Given the description of an element on the screen output the (x, y) to click on. 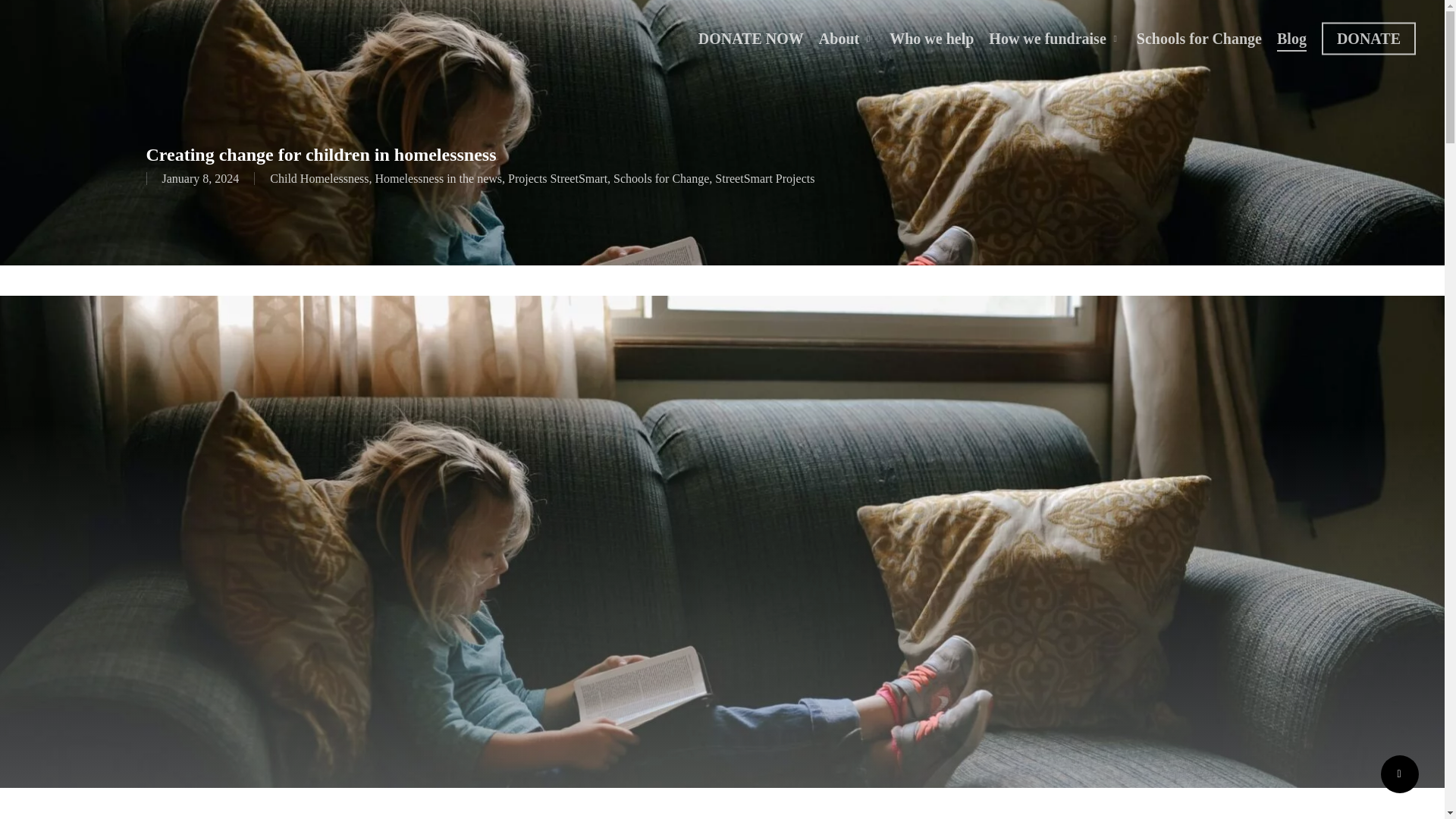
StreetSmart Projects (763, 178)
DONATE NOW (750, 37)
Blog (1291, 37)
Child Homelessness (318, 178)
Who we help (931, 37)
How we fundraise (1054, 37)
DONATE (1368, 37)
About (846, 37)
Homelessness in the news (438, 178)
Schools for Change (1199, 37)
Schools for Change (660, 178)
Projects StreetSmart (557, 178)
